Given the description of an element on the screen output the (x, y) to click on. 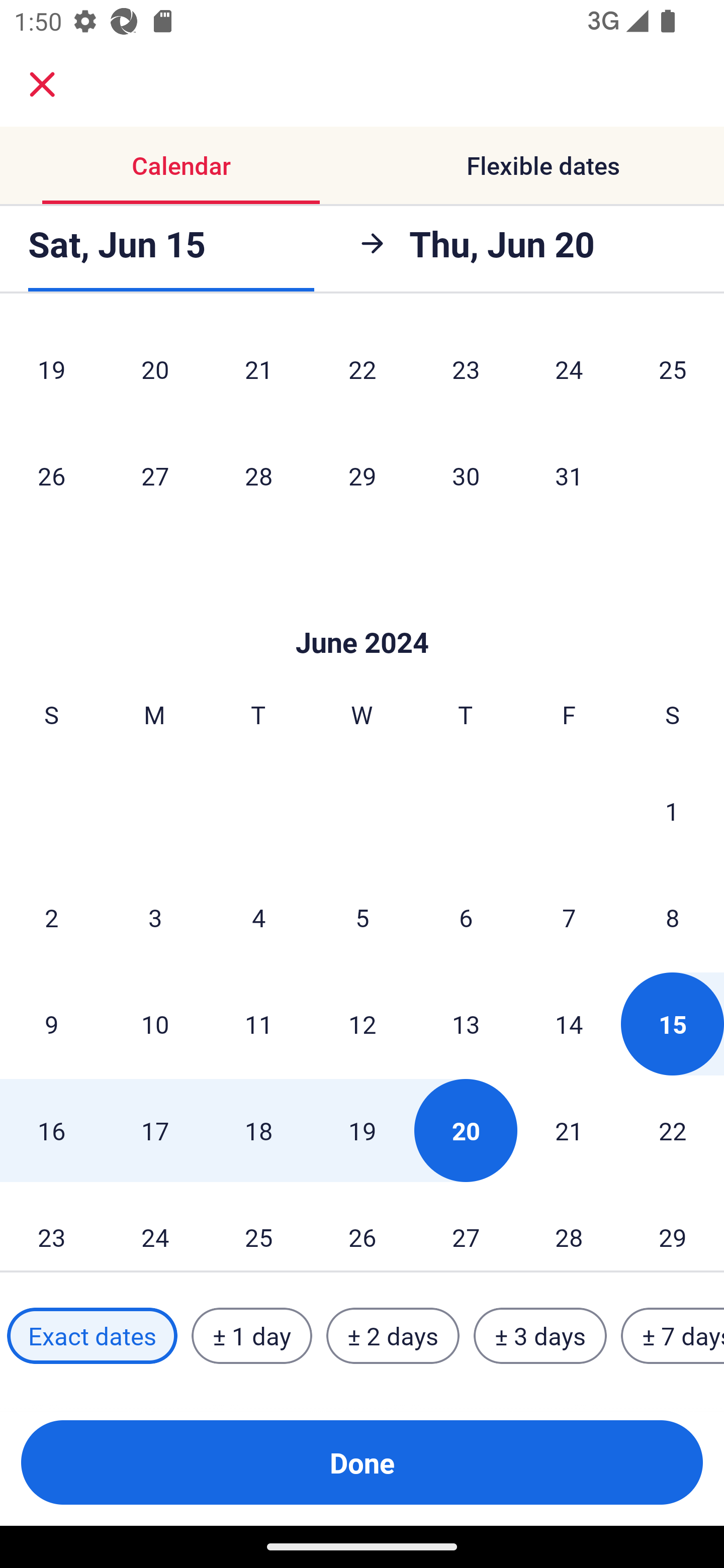
close. (42, 84)
Flexible dates (542, 164)
19 Sunday, May 19, 2024 (51, 370)
20 Monday, May 20, 2024 (155, 370)
21 Tuesday, May 21, 2024 (258, 370)
22 Wednesday, May 22, 2024 (362, 370)
23 Thursday, May 23, 2024 (465, 370)
24 Friday, May 24, 2024 (569, 370)
25 Saturday, May 25, 2024 (672, 370)
26 Sunday, May 26, 2024 (51, 475)
27 Monday, May 27, 2024 (155, 475)
28 Tuesday, May 28, 2024 (258, 475)
29 Wednesday, May 29, 2024 (362, 475)
30 Thursday, May 30, 2024 (465, 475)
31 Friday, May 31, 2024 (569, 475)
Skip to Done (362, 612)
1 Saturday, June 1, 2024 (672, 810)
2 Sunday, June 2, 2024 (51, 917)
3 Monday, June 3, 2024 (155, 917)
4 Tuesday, June 4, 2024 (258, 917)
5 Wednesday, June 5, 2024 (362, 917)
6 Thursday, June 6, 2024 (465, 917)
7 Friday, June 7, 2024 (569, 917)
8 Saturday, June 8, 2024 (672, 917)
9 Sunday, June 9, 2024 (51, 1023)
10 Monday, June 10, 2024 (155, 1023)
11 Tuesday, June 11, 2024 (258, 1023)
12 Wednesday, June 12, 2024 (362, 1023)
13 Thursday, June 13, 2024 (465, 1023)
14 Friday, June 14, 2024 (569, 1023)
21 Friday, June 21, 2024 (569, 1130)
22 Saturday, June 22, 2024 (672, 1130)
23 Sunday, June 23, 2024 (51, 1227)
24 Monday, June 24, 2024 (155, 1227)
25 Tuesday, June 25, 2024 (258, 1227)
26 Wednesday, June 26, 2024 (362, 1227)
27 Thursday, June 27, 2024 (465, 1227)
28 Friday, June 28, 2024 (569, 1227)
29 Saturday, June 29, 2024 (672, 1227)
Exact dates (92, 1335)
± 1 day (251, 1335)
± 2 days (392, 1335)
± 3 days (539, 1335)
± 7 days (672, 1335)
Done (361, 1462)
